Given the description of an element on the screen output the (x, y) to click on. 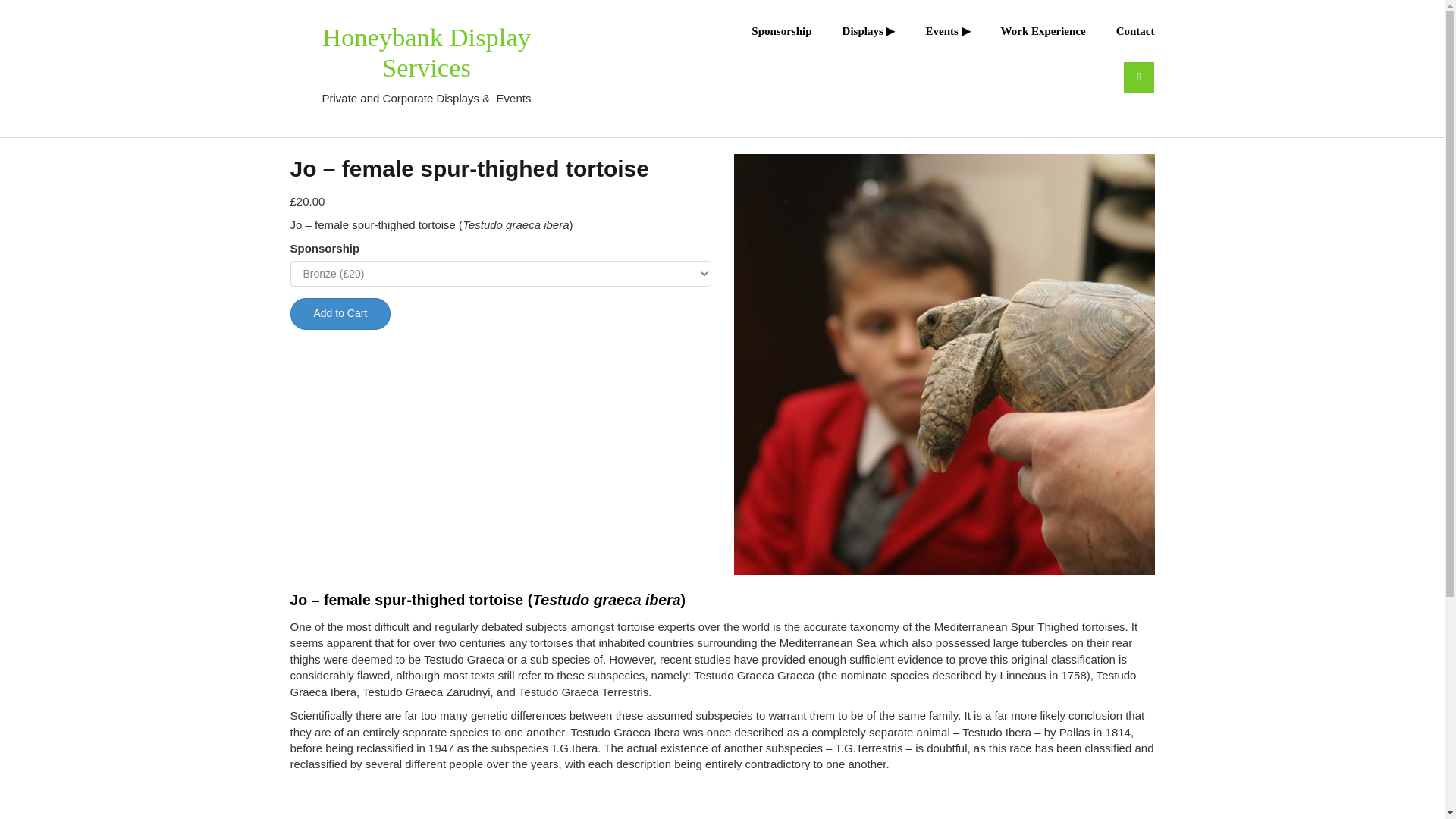
Events (932, 30)
search (1139, 77)
Contact (1120, 30)
Displays (853, 30)
Honeybank Display Services (426, 51)
Sponsorship (765, 30)
Work Experience (1028, 30)
Add to Cart (339, 314)
